Given the description of an element on the screen output the (x, y) to click on. 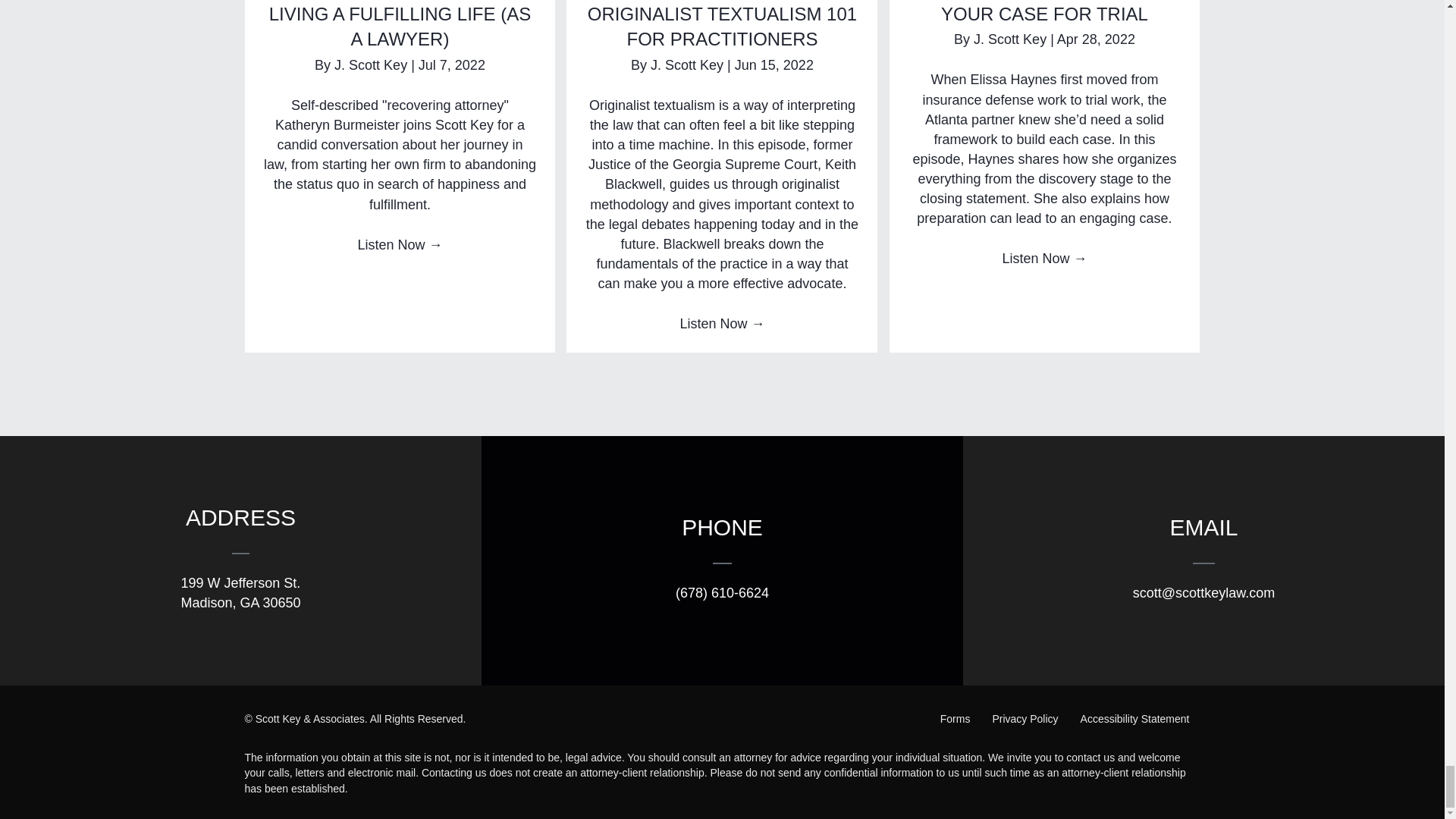
J. Scott Key (1011, 38)
ELISSA HAYNES: ORGANIZING YOUR CASE FOR TRIAL (1044, 12)
J. Scott Key (372, 64)
J. Scott Key (688, 64)
Read More (721, 323)
Elissa Haynes: Organizing Your Case For Trial (1044, 12)
Read More (399, 244)
Read More (1043, 258)
